Given the description of an element on the screen output the (x, y) to click on. 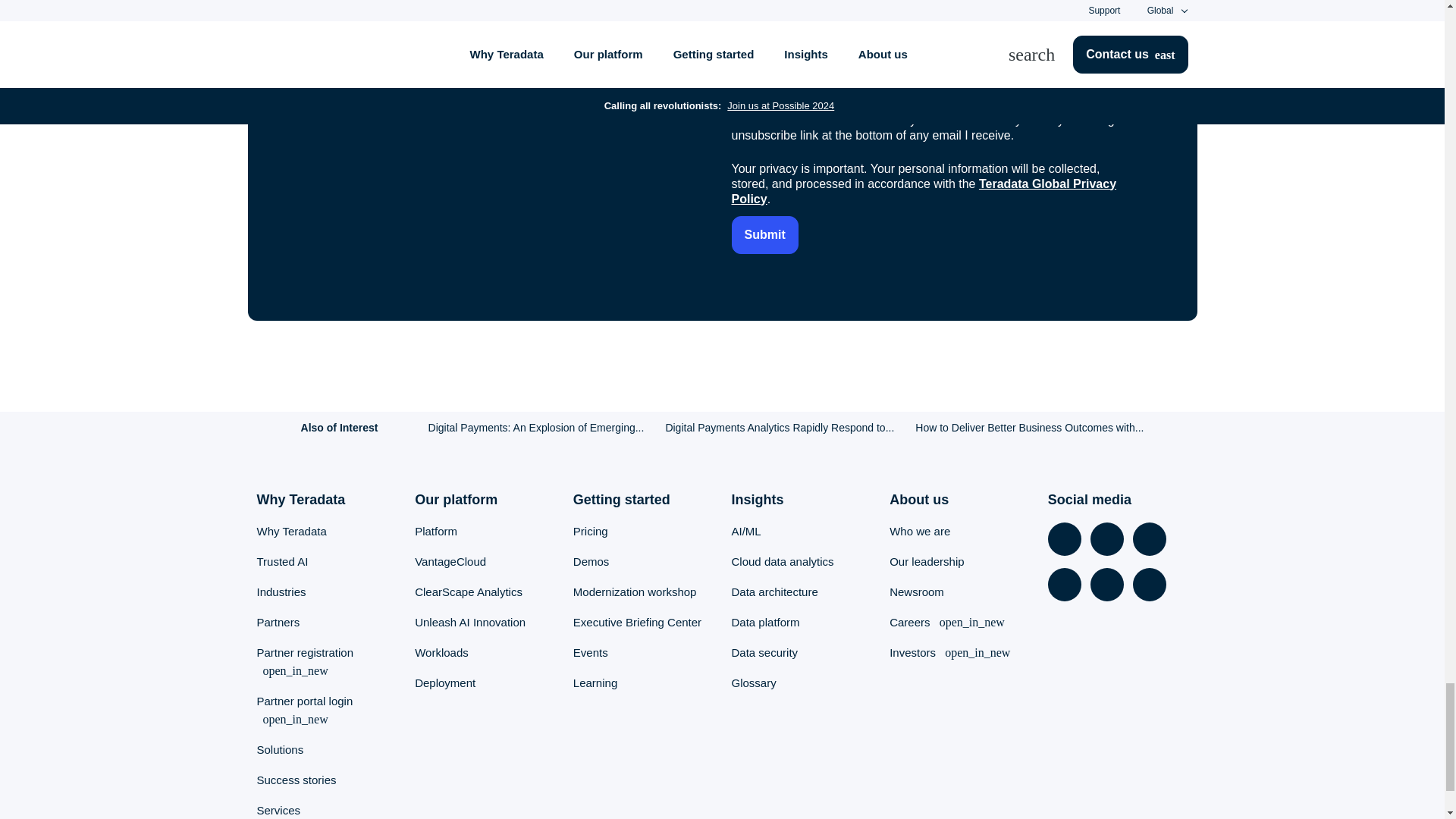
No (793, 53)
Yes (736, 53)
Digital Payments Analytics Rapidly Respond to... (779, 427)
Digital Payments: An Explosion of Emerging... (536, 427)
Submit (763, 234)
Teradata Global Privacy Policy (923, 191)
